Given the description of an element on the screen output the (x, y) to click on. 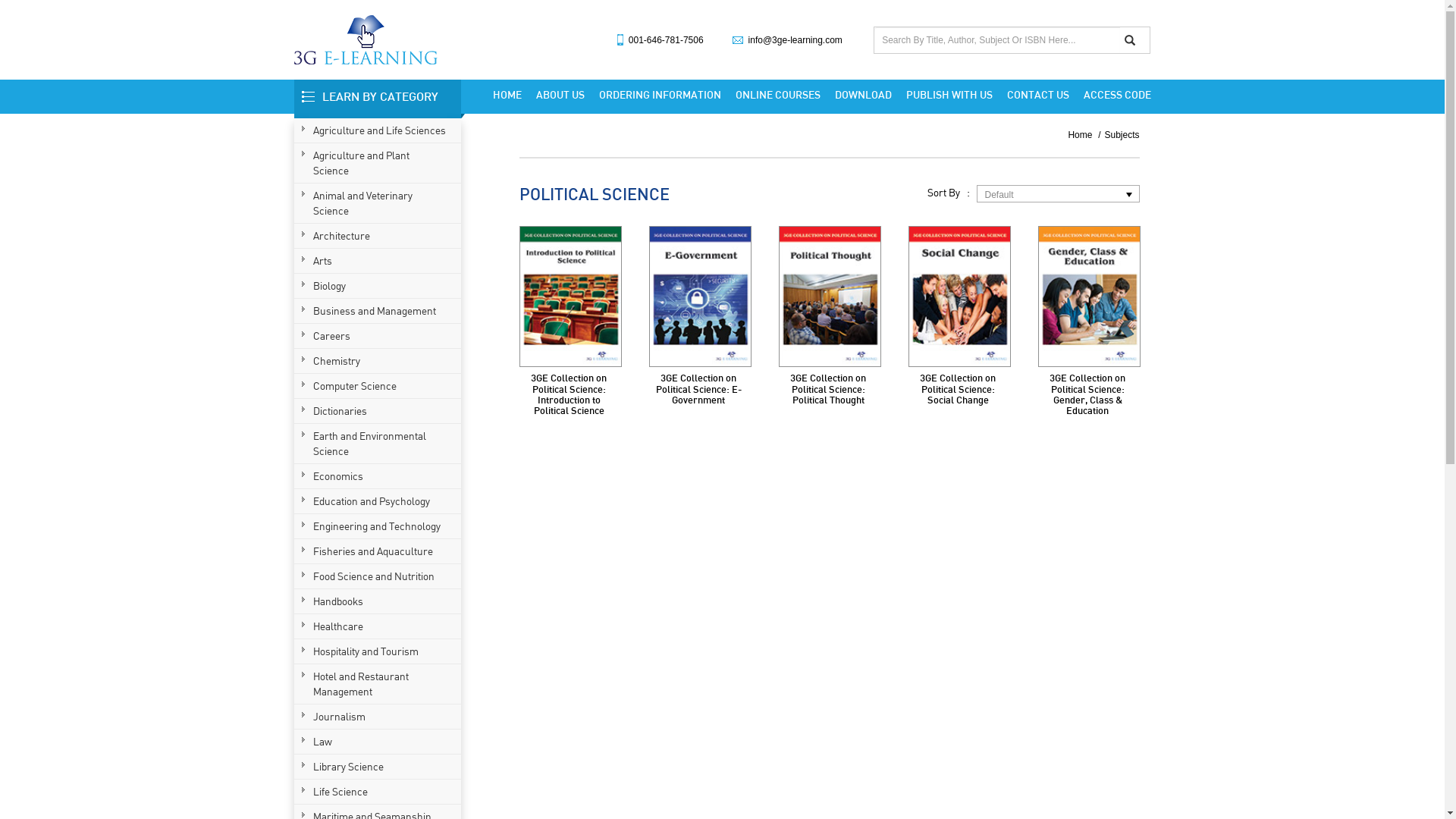
Chemistry Element type: text (378, 360)
Animal and Veterinary Science Element type: text (378, 202)
Education and Psychology Element type: text (378, 501)
Business and Management Element type: text (378, 310)
HOME Element type: text (506, 94)
Architecture Element type: text (378, 235)
Dictionaries Element type: text (378, 410)
Fisheries and Aquaculture Element type: text (378, 551)
Home Element type: text (1083, 134)
Hospitality and Tourism Element type: text (378, 651)
Agriculture and Life Sciences Element type: text (378, 130)
3GE Collection on Political Science: Political Thought Element type: text (827, 388)
Default Element type: text (1046, 193)
3GE Collection on Political Science: Social Change Element type: hover (959, 296)
Library Science Element type: text (378, 766)
ACCESS CODE Element type: text (1113, 94)
Handbooks Element type: text (378, 601)
ONLINE COURSES Element type: text (777, 94)
Food Science and Nutrition Element type: text (378, 576)
Careers Element type: text (378, 335)
3G Learning Element type: hover (365, 39)
ORDERING INFORMATION Element type: text (660, 94)
3GE Collection on Political Science: E-Government Element type: text (698, 388)
3GE Collection on Political Science: E-Government Element type: hover (699, 296)
Life Science Element type: text (378, 791)
DOWNLOAD Element type: text (862, 94)
Economics Element type: text (378, 476)
Journalism Element type: text (378, 716)
Law Element type: text (378, 741)
ABOUT US Element type: text (559, 94)
info@3ge-learning.com Element type: text (795, 39)
Arts Element type: text (378, 260)
Agriculture and Plant Science Element type: text (378, 162)
Computer Science Element type: text (378, 385)
Earth and Environmental Science Element type: text (378, 443)
Toggle Dropdown Element type: text (1128, 193)
3GE Collection on Political Science: Political Thought Element type: hover (829, 296)
3GE Collection on Political Science: Social Change Element type: text (957, 388)
Engineering and Technology Element type: text (378, 526)
Biology Element type: text (378, 285)
PUBLISH WITH US Element type: text (948, 94)
CONTACT US Element type: text (1038, 94)
Hotel and Restaurant Management Element type: text (378, 683)
Healthcare Element type: text (378, 626)
